Given the description of an element on the screen output the (x, y) to click on. 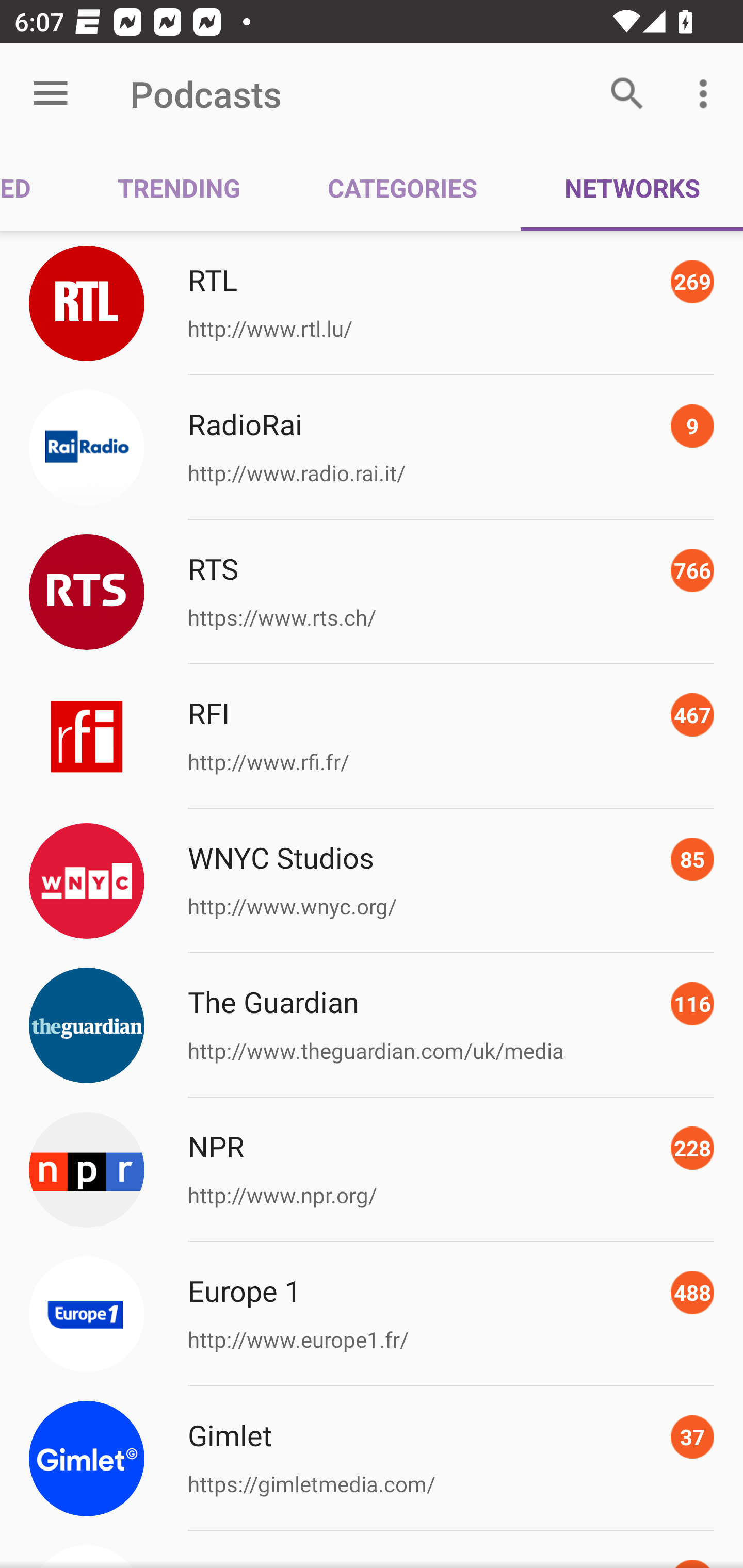
Open menu (50, 93)
Search (626, 93)
More options (706, 93)
TRENDING (178, 187)
CATEGORIES (401, 187)
NETWORKS (631, 187)
Picture RTL 269 http://www.rtl.lu/ (371, 302)
Picture RadioRai 9 http://www.radio.rai.it/ (371, 447)
Picture RTS 766 https://www.rts.ch/ (371, 592)
Picture RFI 467 http://www.rfi.fr/ (371, 736)
Picture WNYC Studios 85 http://www.wnyc.org/ (371, 881)
Picture NPR 228 http://www.npr.org/ (371, 1169)
Picture Europe 1 488 http://www.europe1.fr/ (371, 1313)
Picture Gimlet 37 https://gimletmedia.com/ (371, 1458)
